Given the description of an element on the screen output the (x, y) to click on. 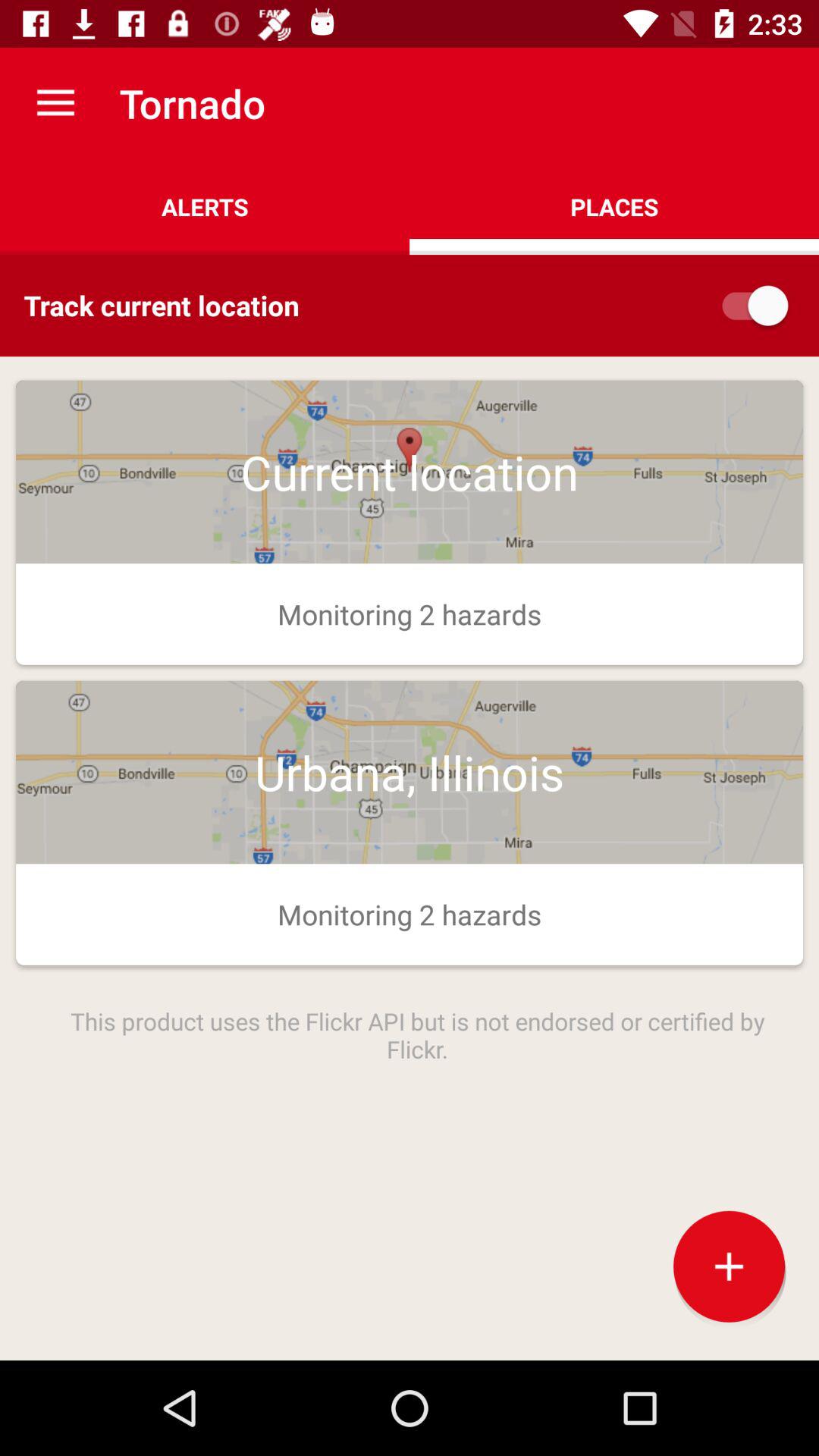
press the app above the alerts item (55, 103)
